Given the description of an element on the screen output the (x, y) to click on. 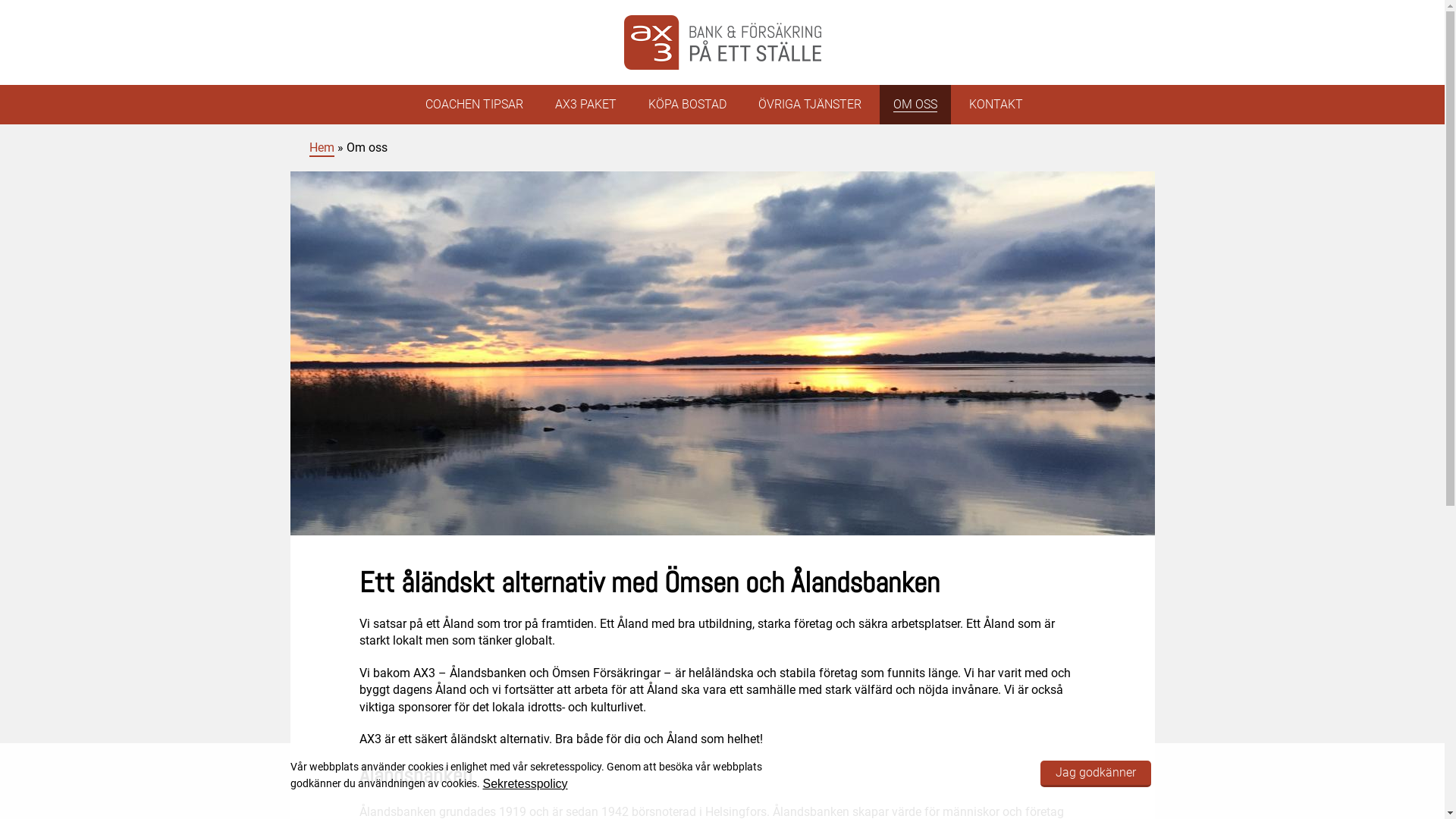
AX3 Element type: text (312, 137)
KONTAKT Element type: text (995, 104)
Hem Element type: text (321, 148)
Sekretesspolicy Element type: text (524, 783)
COACHEN TIPSAR Element type: text (473, 104)
OM OSS Element type: text (914, 104)
AX3 PAKET Element type: text (585, 104)
AX3 Element type: hover (721, 42)
